Given the description of an element on the screen output the (x, y) to click on. 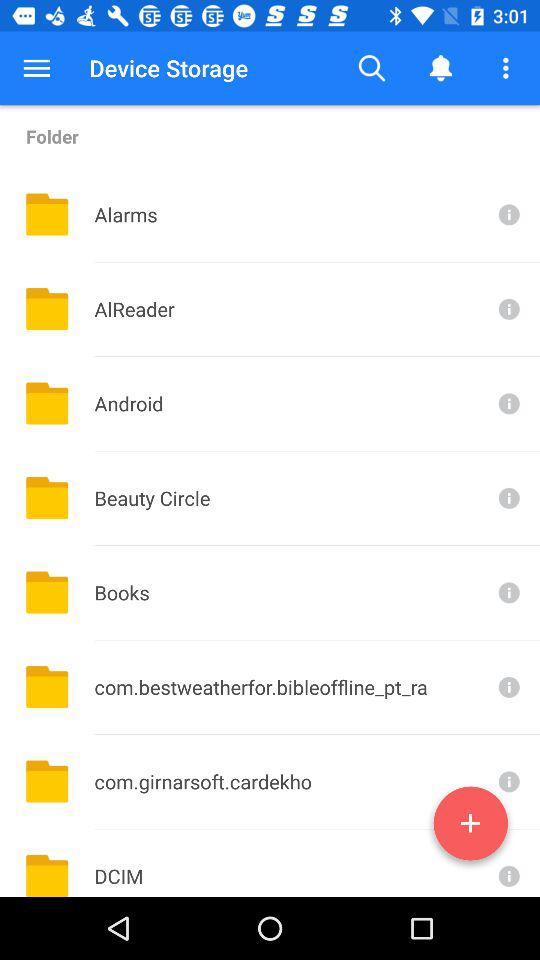
information (507, 781)
